Given the description of an element on the screen output the (x, y) to click on. 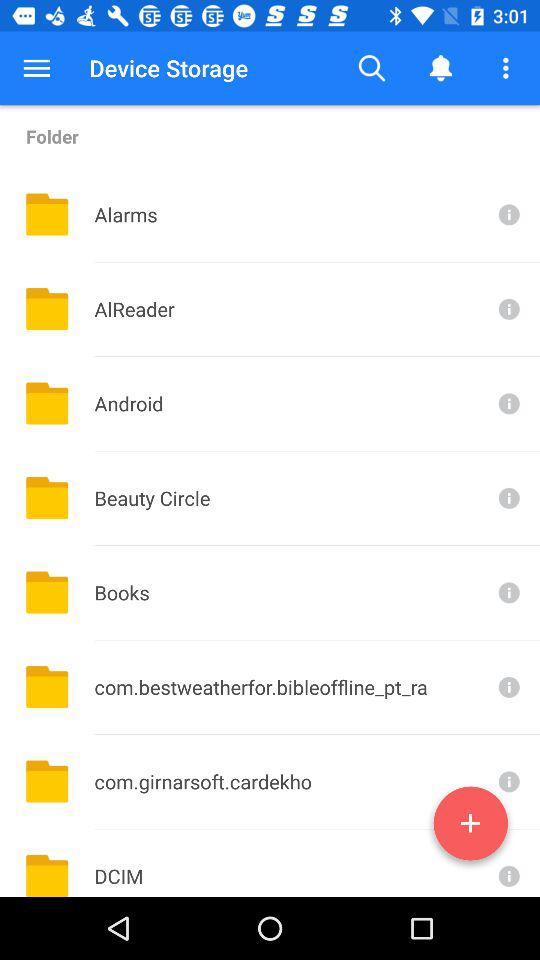
information (507, 781)
